Given the description of an element on the screen output the (x, y) to click on. 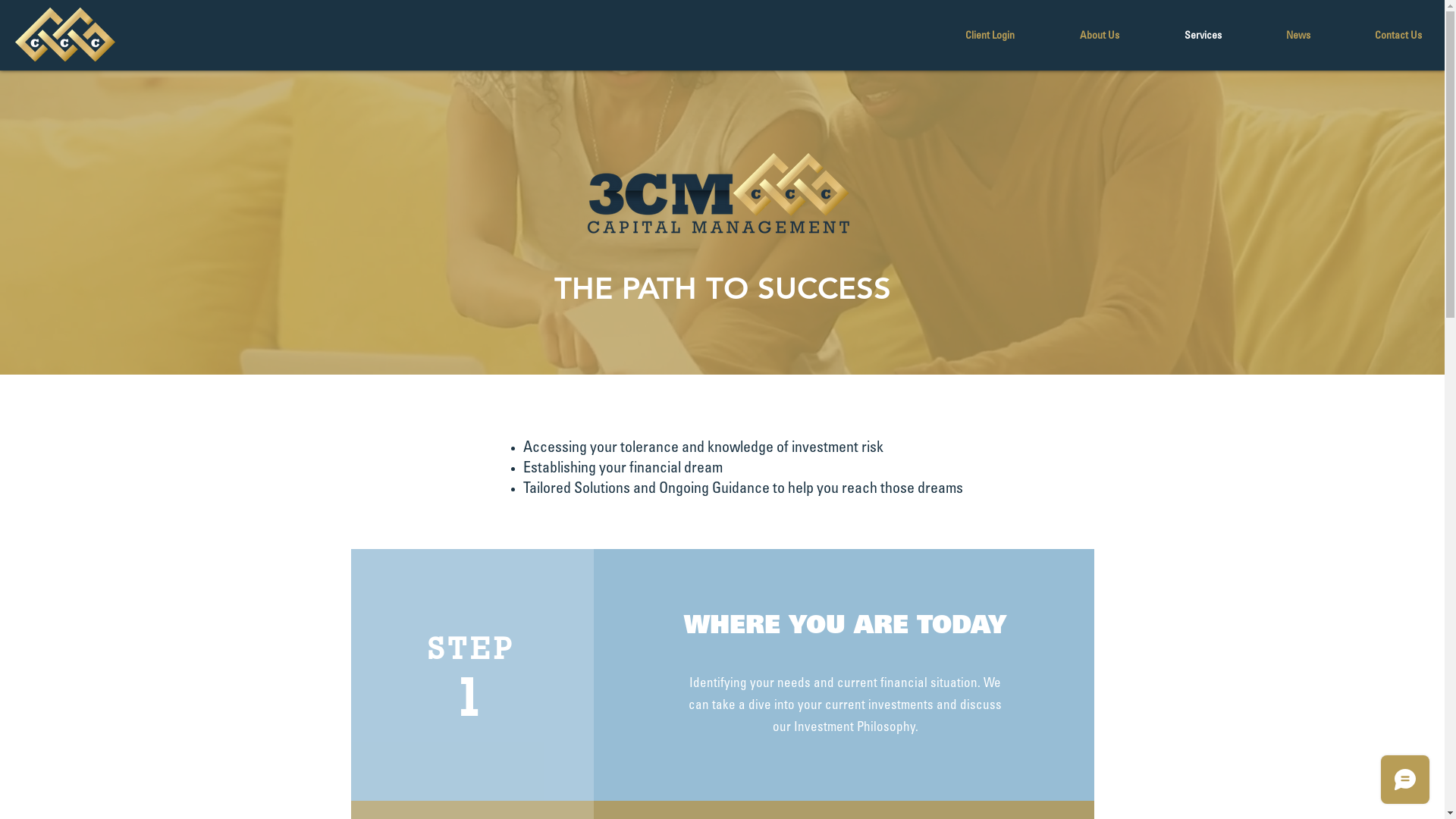
Contact Us Element type: text (1373, 36)
Services Element type: text (1177, 36)
News Element type: text (1273, 36)
Client Login Element type: text (964, 36)
About Us Element type: text (1074, 36)
